Given the description of an element on the screen output the (x, y) to click on. 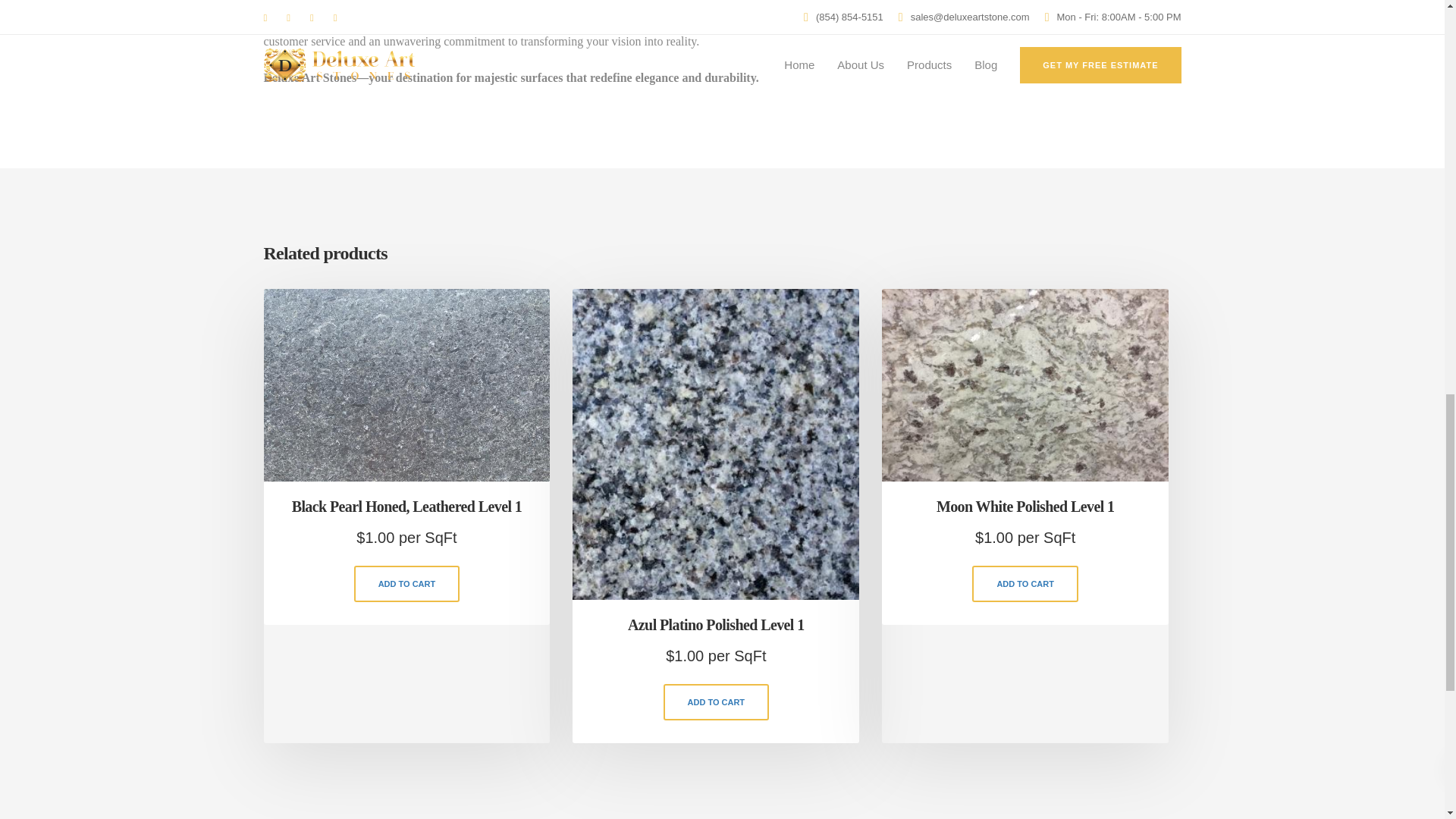
Black Pearl Honed, Leathered Level 1 (406, 509)
ADD TO CART (406, 583)
ADD TO CART (716, 701)
Azul Platino Polished Level 1 (715, 627)
